Given the description of an element on the screen output the (x, y) to click on. 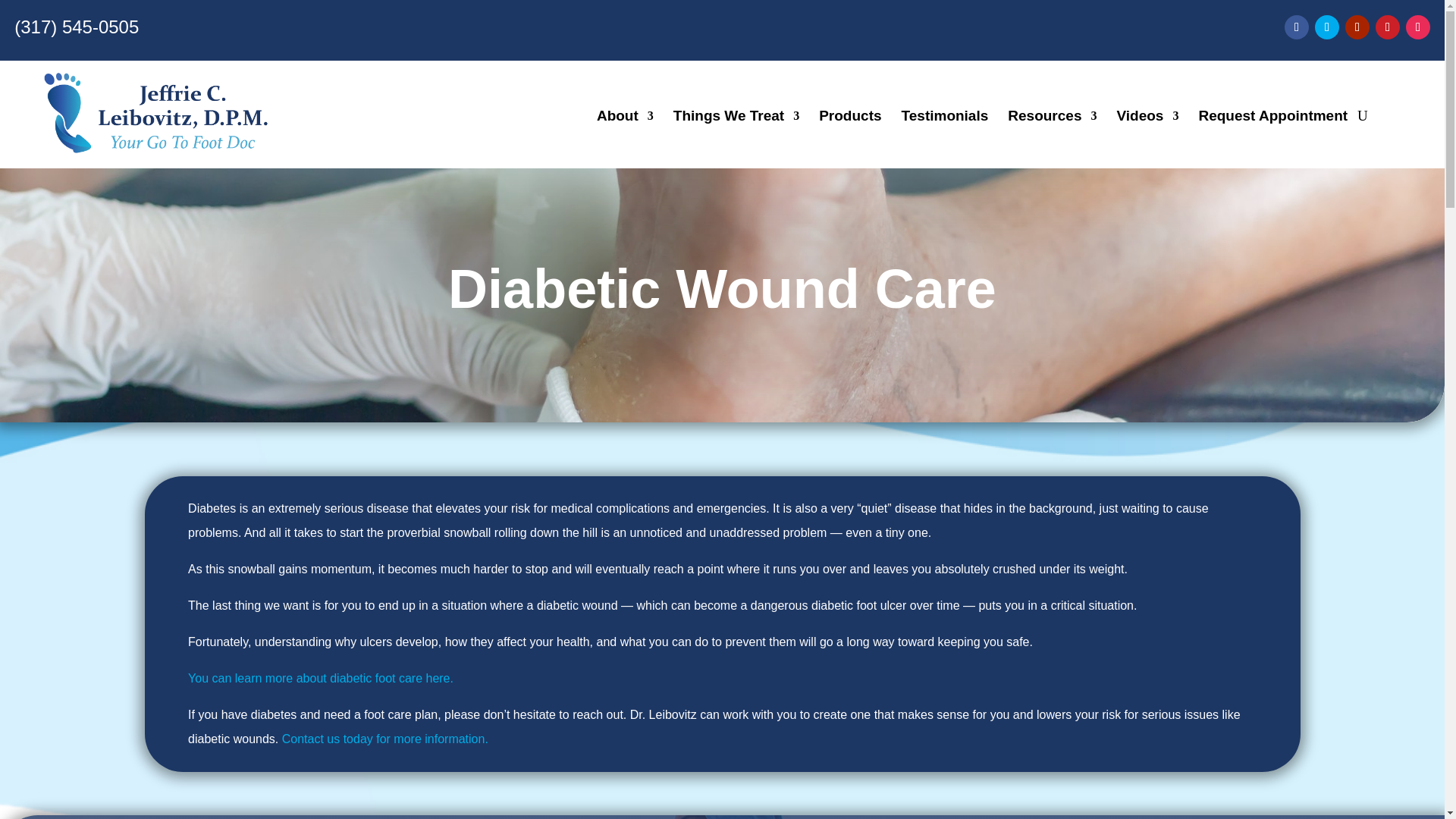
Jeffrie C. Leibovitz, DPM Logo (155, 114)
Things We Treat (735, 118)
Follow on Instagram (1417, 27)
Follow on Twitter (1326, 27)
Follow on Youtube (1357, 27)
About (624, 118)
Follow on Pinterest (1387, 27)
Follow on Facebook (1296, 27)
